Given the description of an element on the screen output the (x, y) to click on. 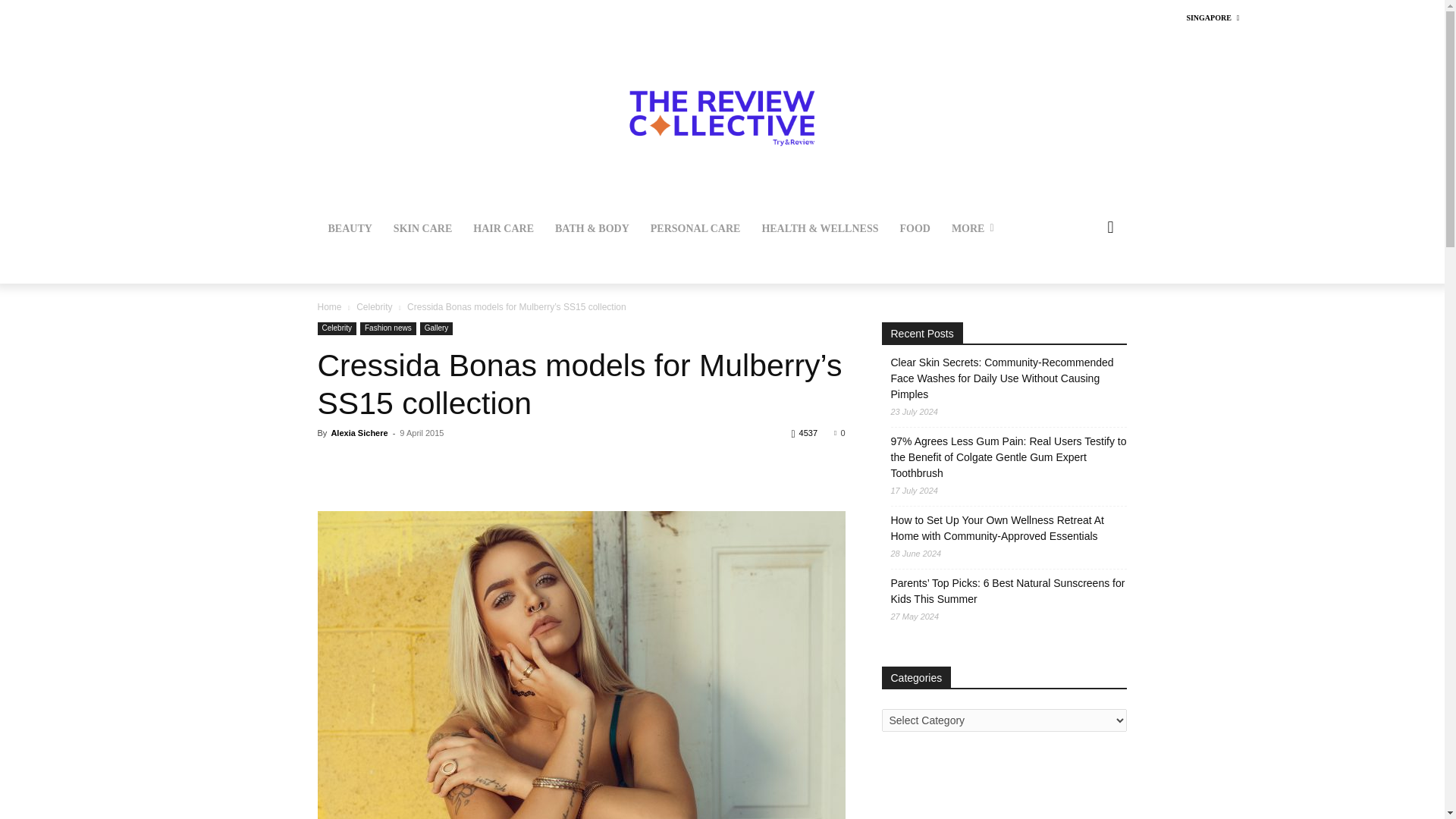
HAIR CARE (503, 228)
SKIN CARE (422, 228)
Singapore (1211, 18)
SINGAPORE (1211, 18)
BEAUTY (349, 228)
